Given the description of an element on the screen output the (x, y) to click on. 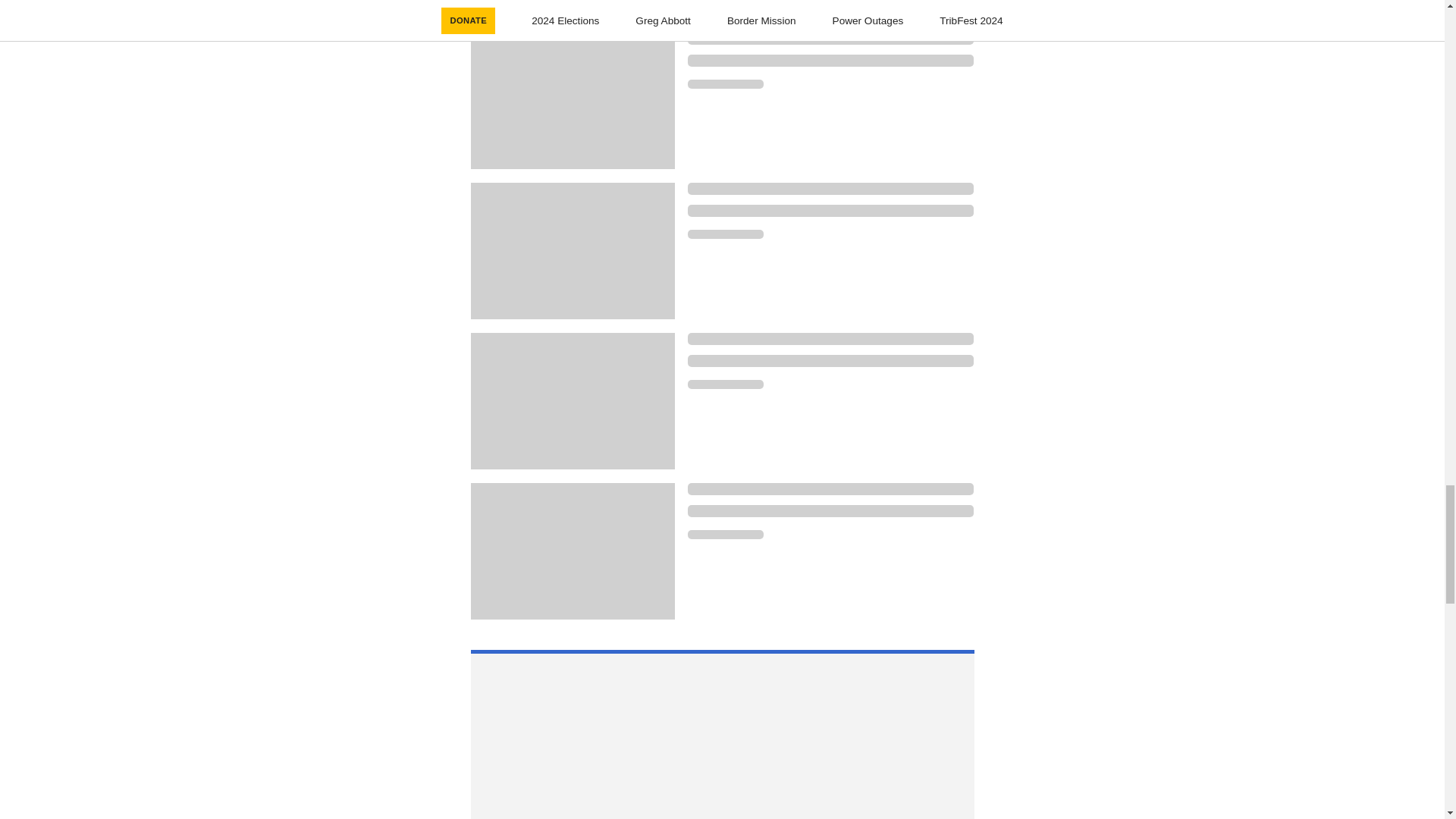
Loading indicator (724, 384)
Loading indicator (830, 60)
Loading indicator (724, 533)
Loading indicator (830, 489)
Loading indicator (830, 188)
Loading indicator (830, 338)
Loading indicator (830, 210)
Loading indicator (724, 234)
Loading indicator (830, 360)
Loading indicator (830, 38)
Loading indicator (724, 83)
Loading indicator (830, 510)
